Given the description of an element on the screen output the (x, y) to click on. 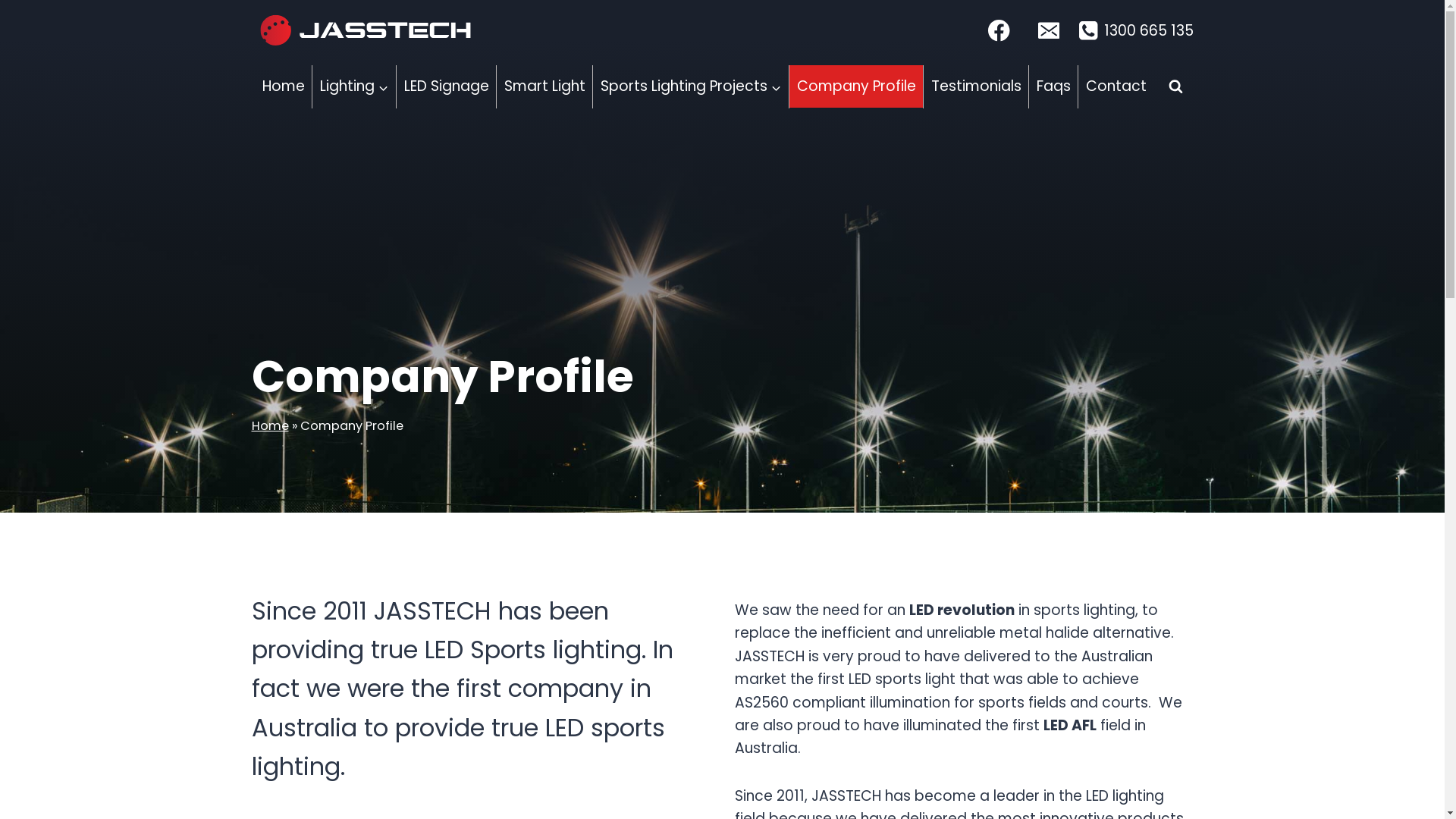
Contact Element type: text (1115, 86)
Company Profile Element type: text (855, 86)
1300 665 135 Element type: text (1134, 30)
Sports Lighting Projects Element type: text (690, 86)
LED Signage Element type: text (445, 86)
Faqs Element type: text (1053, 86)
Lighting Element type: text (353, 86)
Testimonials Element type: text (975, 86)
Home Element type: text (282, 86)
Home Element type: text (269, 425)
Smart Light Element type: text (544, 86)
